Given the description of an element on the screen output the (x, y) to click on. 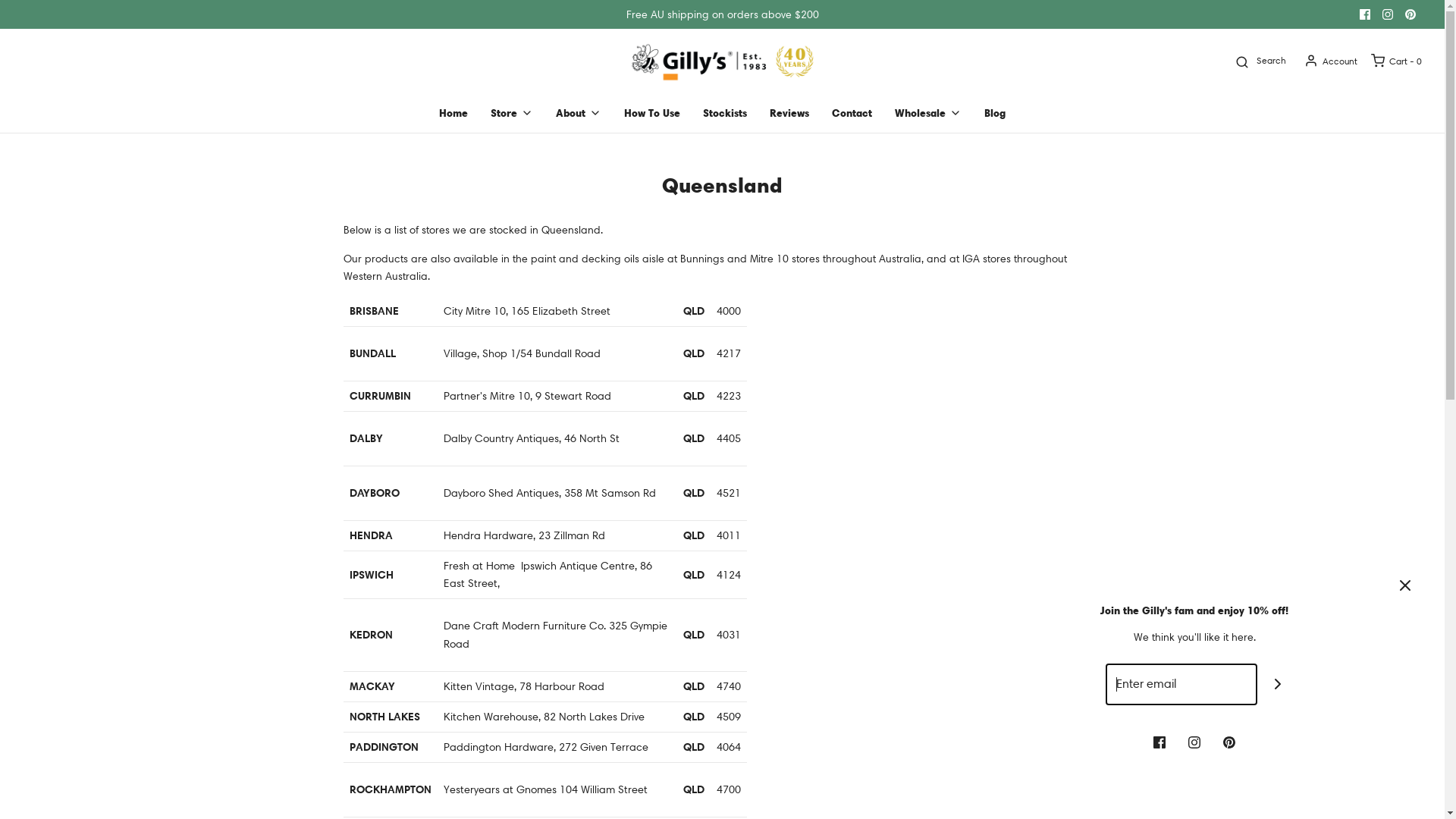
Hendra Hardware Element type: text (487, 535)
Store Element type: text (511, 112)
Dane Craft Modern Furniture Co. Element type: text (523, 625)
Account Element type: text (1329, 60)
Reviews Element type: text (789, 112)
Wholesale Element type: text (927, 112)
Village Element type: text (459, 353)
Mezzie + Frank Furniture Paints - Shop Now >> Element type: text (721, 14)
IGA Element type: text (970, 258)
Search Element type: text (1258, 60)
Bunnings Element type: text (701, 258)
City Mitre 10 Element type: text (473, 310)
Paddington Hardware Element type: text (497, 746)
Blog Element type: text (994, 112)
About Element type: text (578, 112)
Facebook icon Element type: text (1159, 740)
Dalby Country Antiques Element type: text (500, 438)
Kitten Vintage Element type: text (477, 686)
Home Element type: text (453, 112)
Contact Element type: text (851, 112)
Stockists Element type: text (724, 112)
Instagram icon Element type: text (1194, 740)
Cart - 0 Element type: text (1394, 60)
Pinterest icon Element type: text (1229, 740)
Instagram icon Element type: text (1387, 14)
Yesteryears at Gnomes Element type: text (498, 789)
Partner's Mitre 1 Element type: text (482, 395)
Pinterest icon Element type: text (1410, 14)
Dayboro Shed Antiques Element type: text (500, 492)
Mitre 10 Element type: text (768, 258)
How To Use Element type: text (652, 112)
Fresh at Home Element type: text (478, 565)
Facebook icon Element type: text (1364, 14)
